Given the description of an element on the screen output the (x, y) to click on. 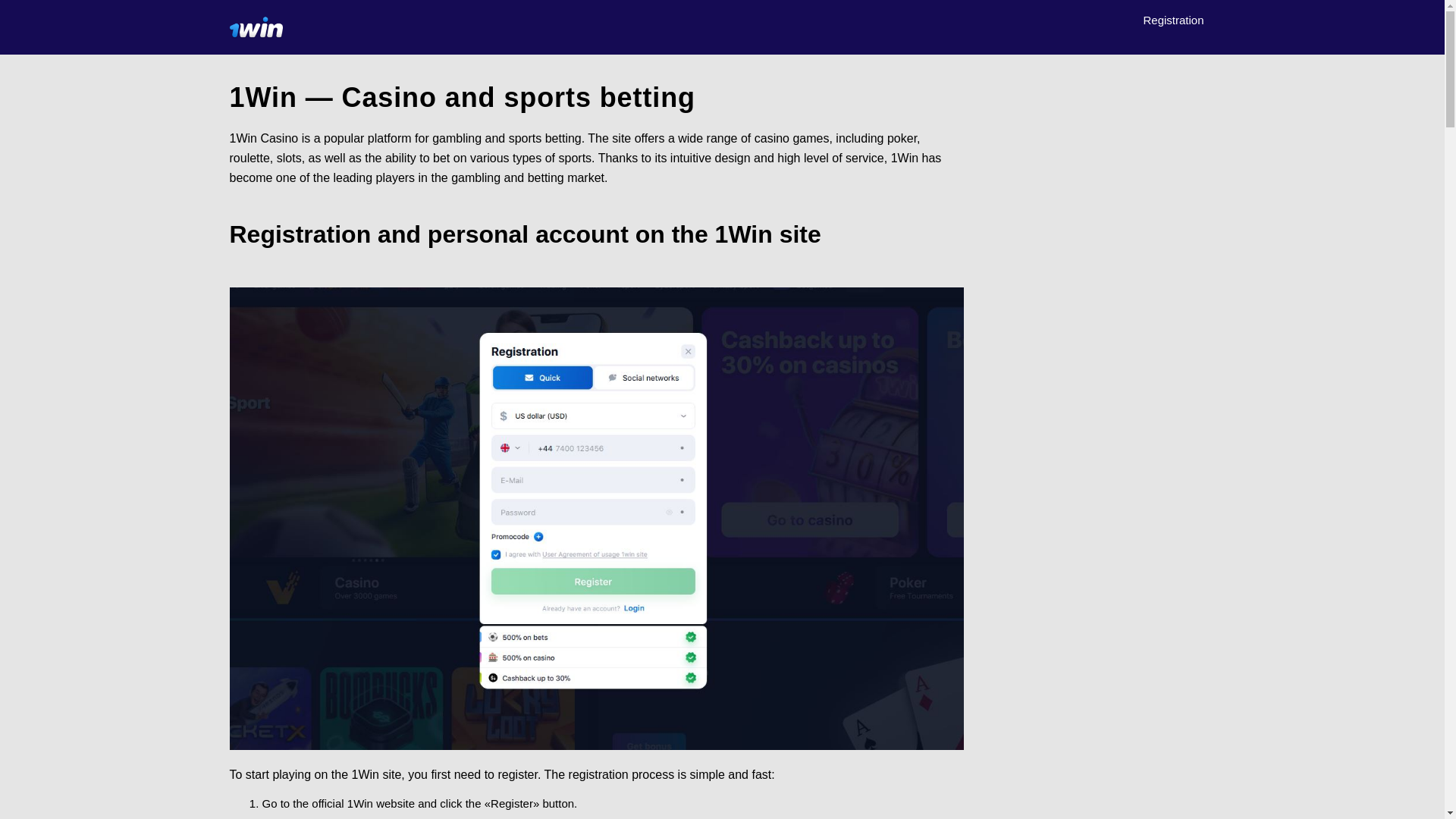
Registration Element type: text (1172, 20)
